Given the description of an element on the screen output the (x, y) to click on. 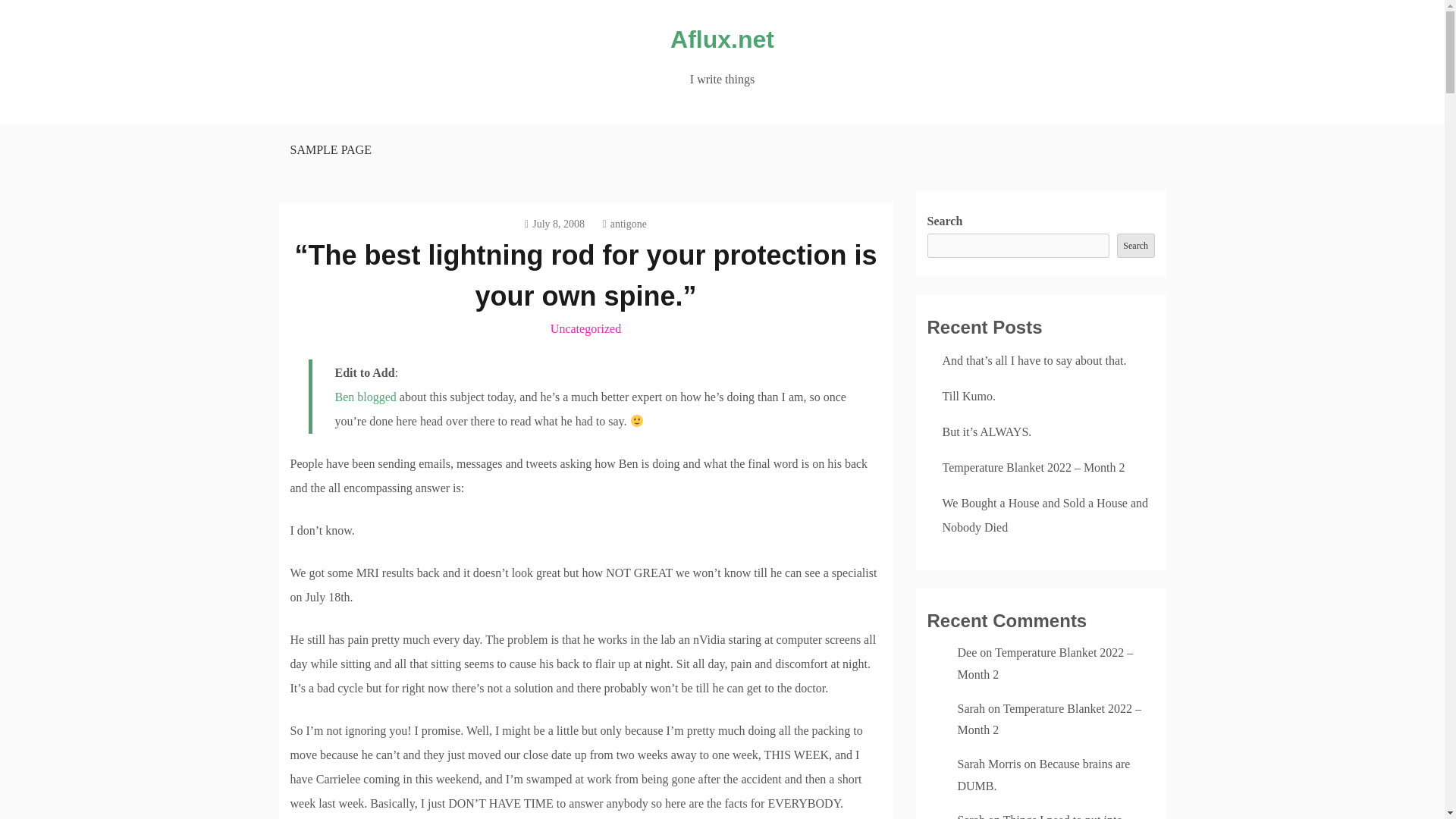
July 8, 2008 (554, 224)
Because brains are DUMB. (1042, 774)
antigone (624, 224)
Search (1135, 245)
Aflux.net (721, 39)
Dee (966, 652)
Uncategorized (585, 328)
Till Kumo. (968, 395)
Ben blogged (365, 396)
